Given the description of an element on the screen output the (x, y) to click on. 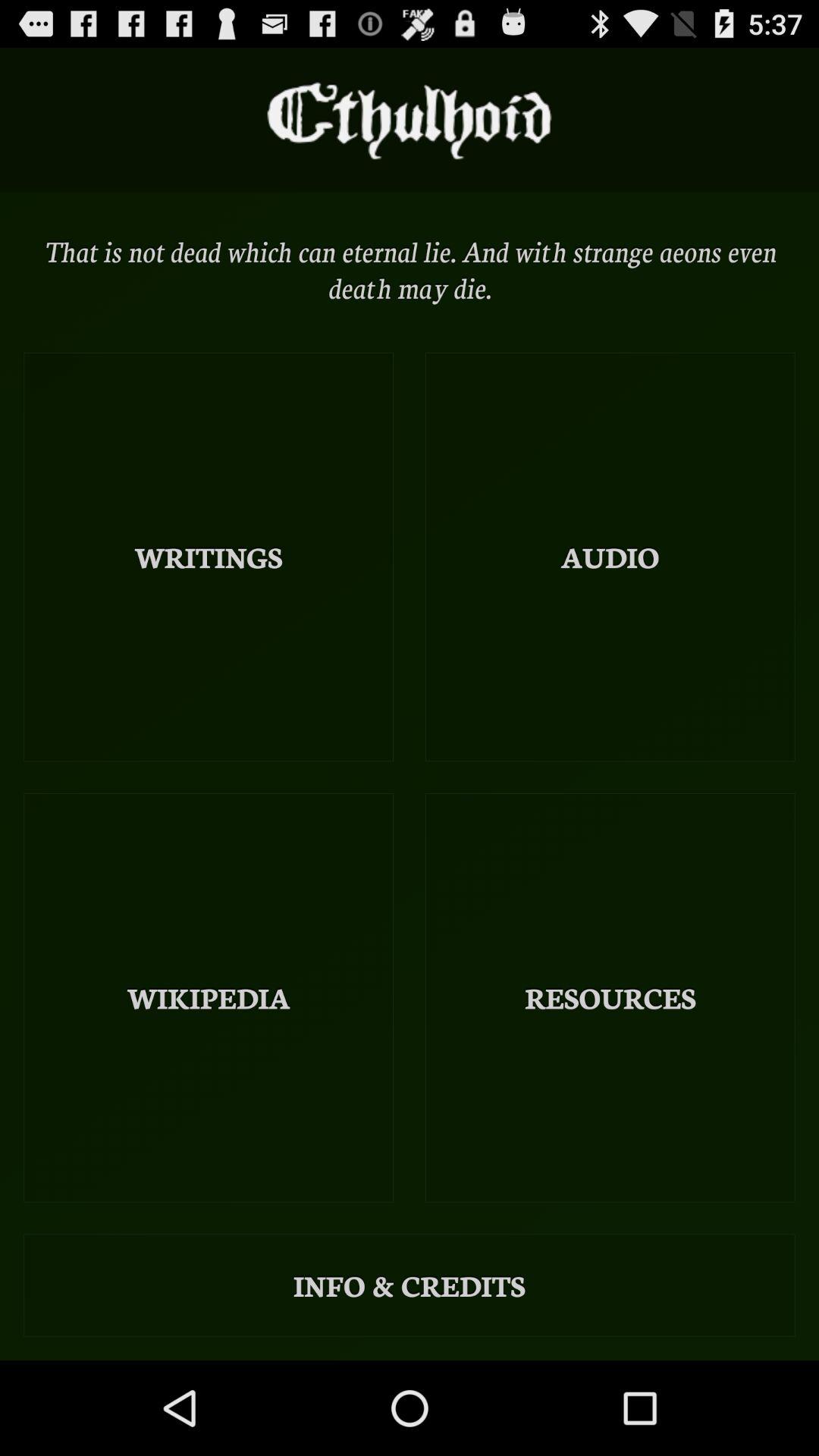
click icon above wikipedia icon (208, 556)
